Given the description of an element on the screen output the (x, y) to click on. 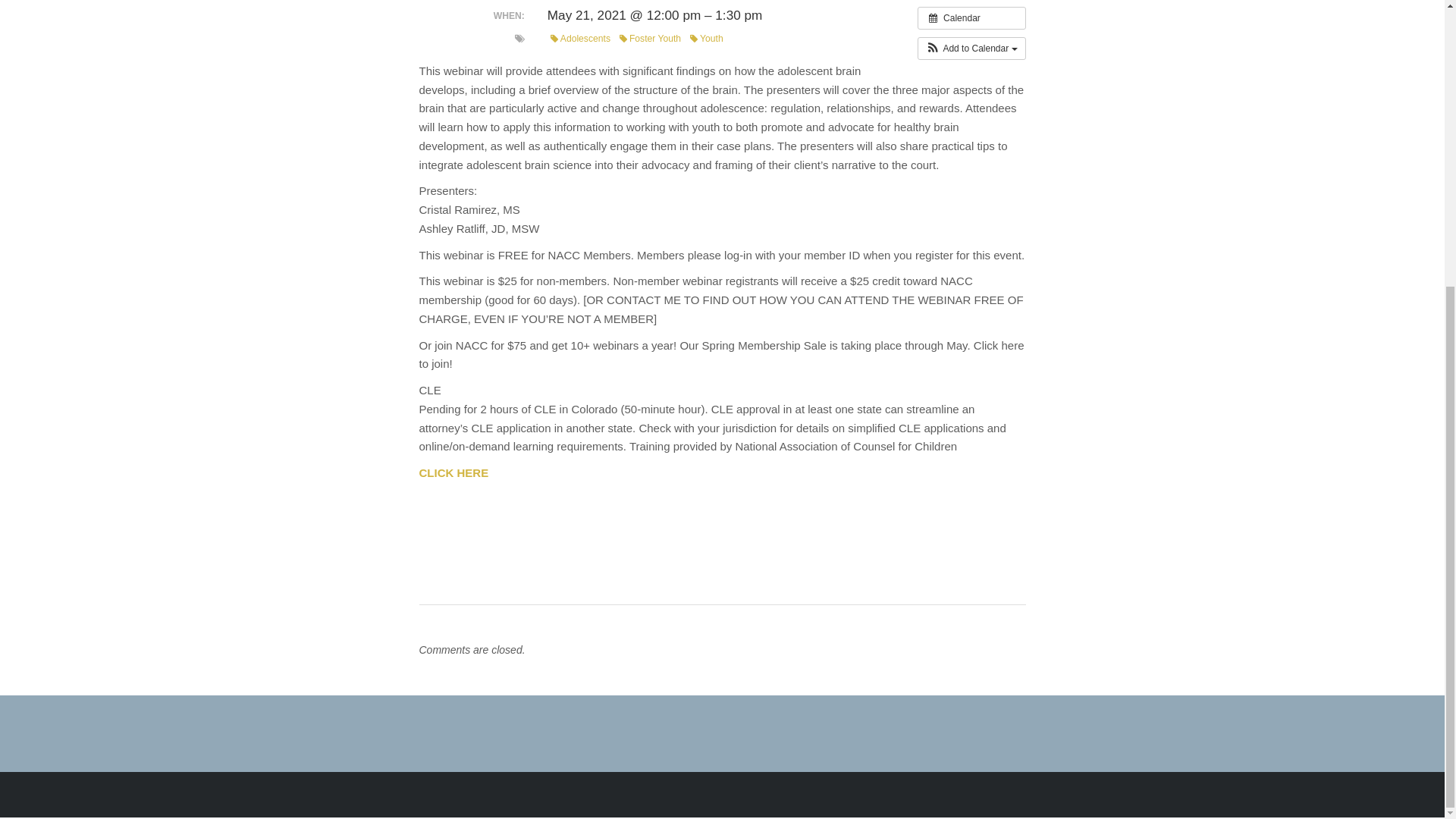
Youth (706, 38)
Foster Youth (649, 38)
View all events (971, 17)
Adolescents (579, 38)
CLICK HERE (453, 472)
Calendar (971, 17)
Tags (519, 38)
